Given the description of an element on the screen output the (x, y) to click on. 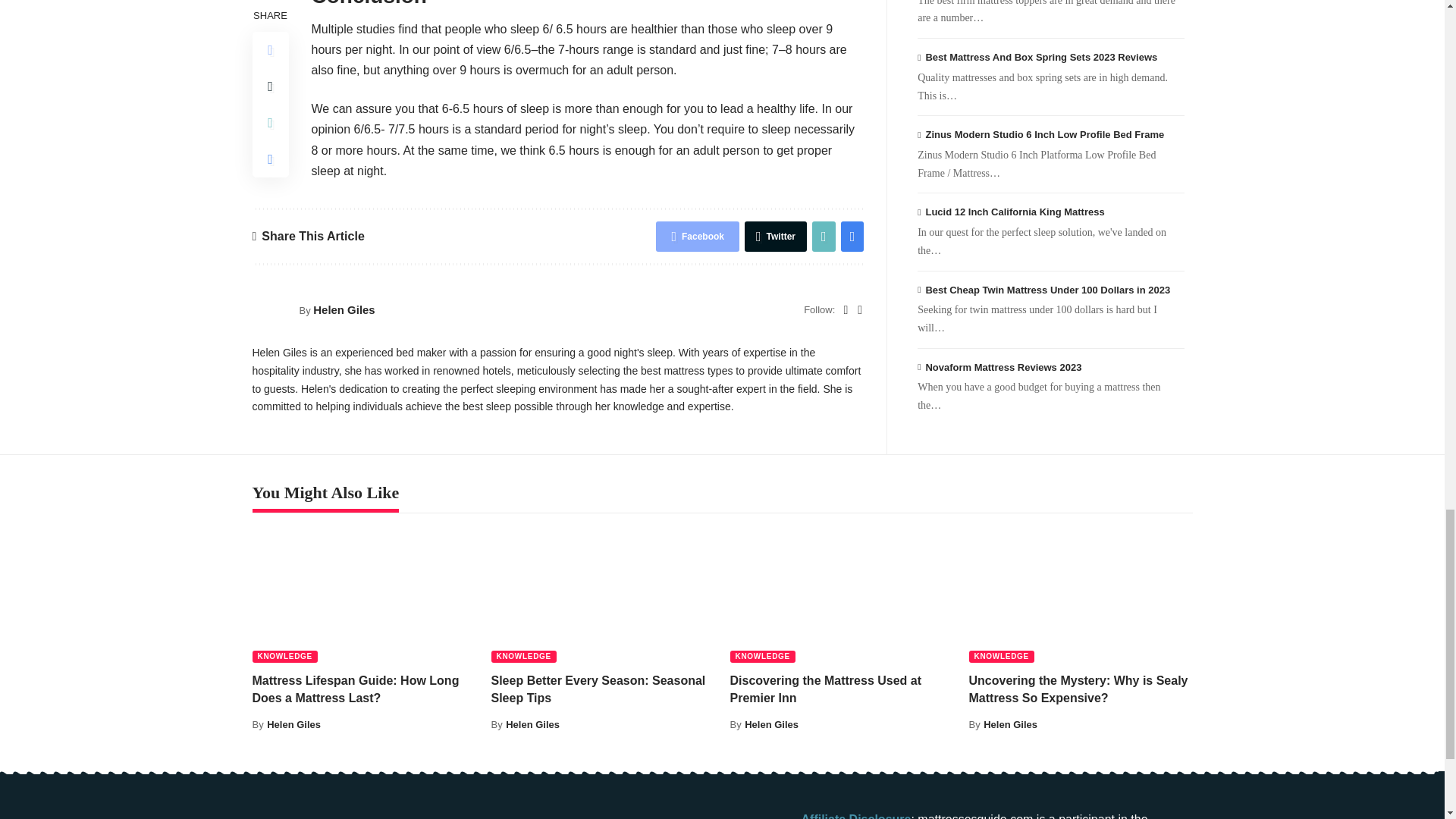
Sleep Better Every Season: Seasonal Sleep Tips (603, 595)
Mattress Lifespan Guide: How Long Does a Mattress Last? (363, 595)
Uncovering the Mystery: Why is Sealy Mattress So Expensive? (1080, 595)
Discovering the Mattress Used at Premier Inn (841, 595)
